Given the description of an element on the screen output the (x, y) to click on. 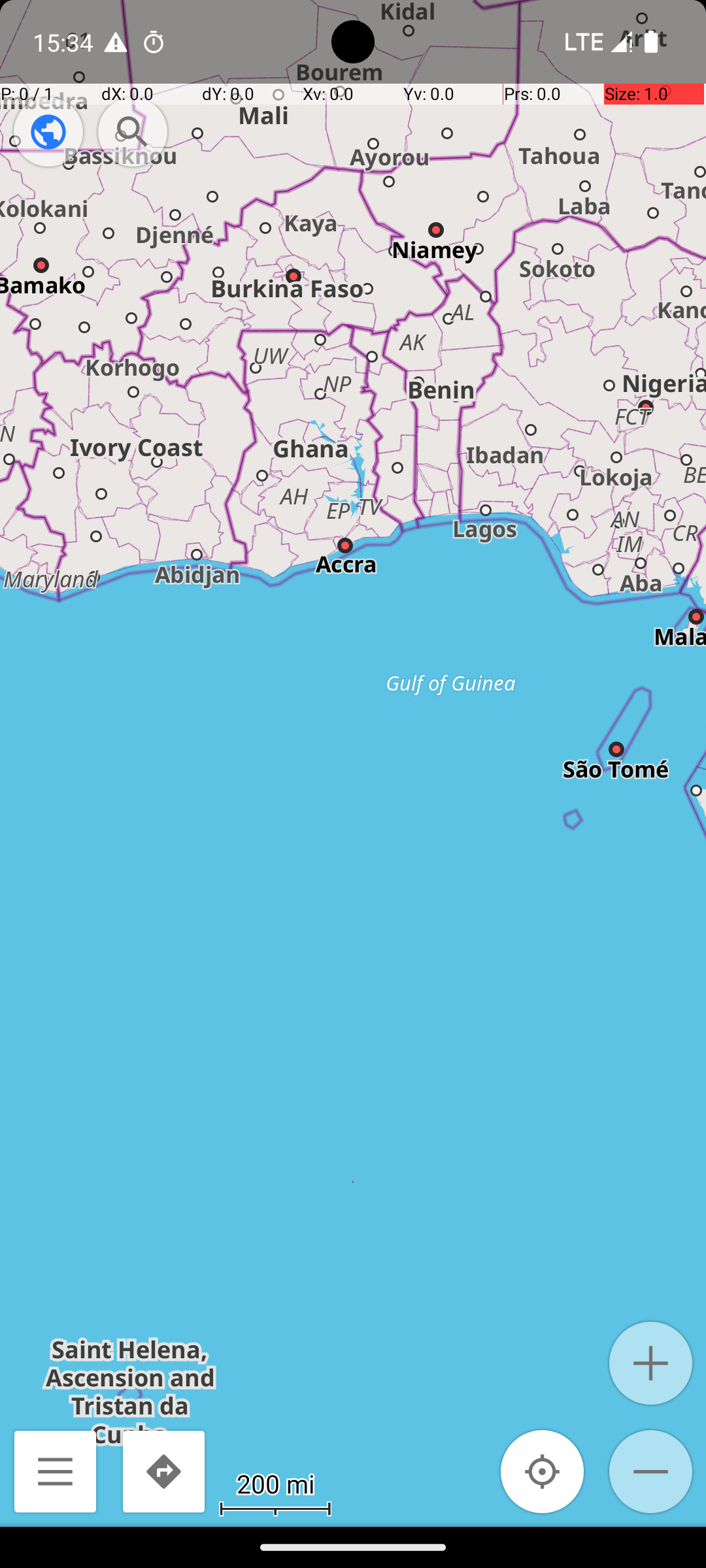
Back to menu Element type: android.widget.ImageButton (55, 1471)
Route Element type: android.widget.ImageButton (163, 1471)
200 mi Element type: android.widget.TextView (274, 1483)
Position not yet known. Element type: android.widget.ImageButton (542, 1471)
Zoom in Element type: android.widget.ImageButton (650, 1362)
Zoom out Element type: android.widget.ImageButton (650, 1471)
